Given the description of an element on the screen output the (x, y) to click on. 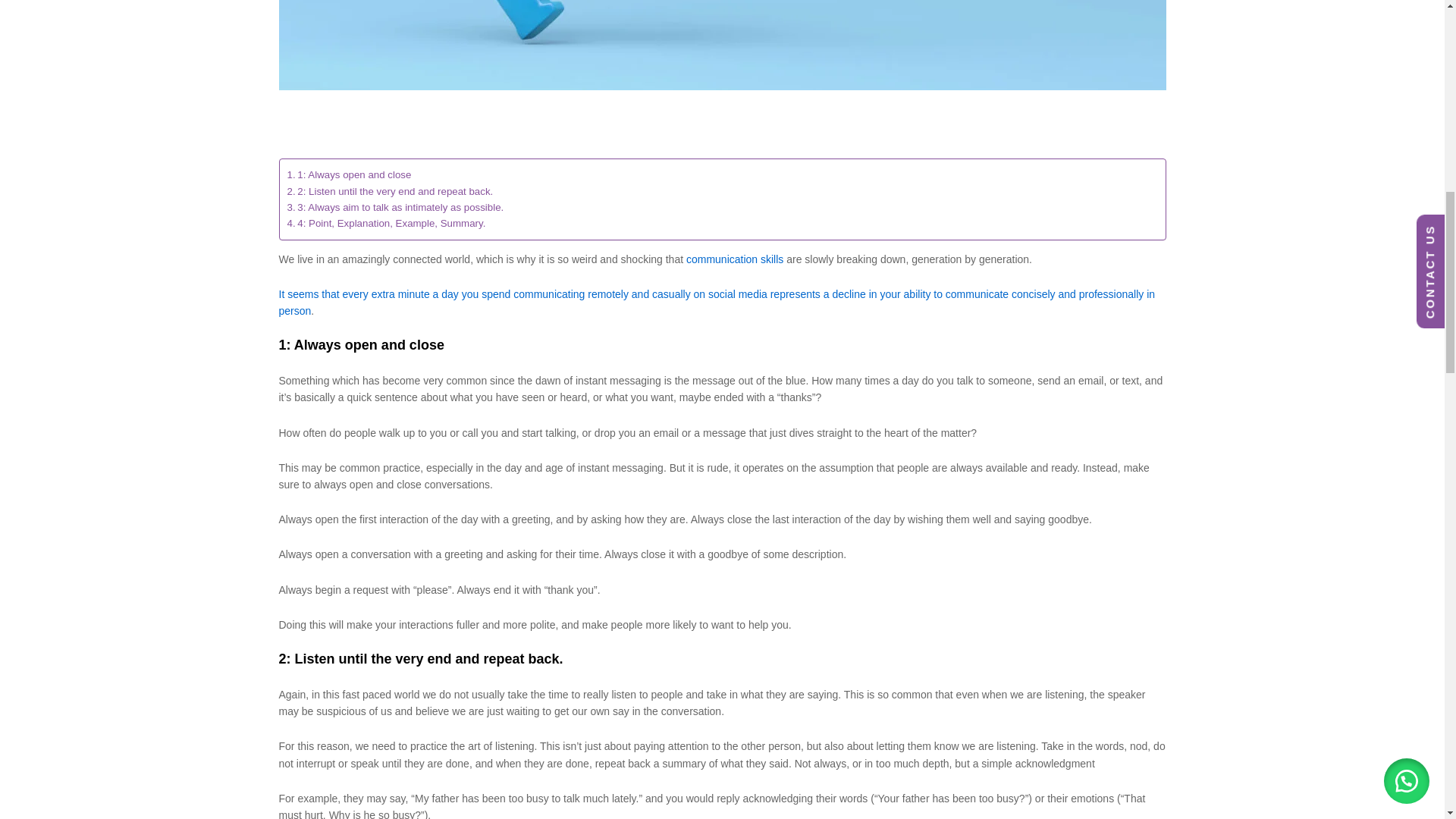
2: Listen until the very end and repeat back. (389, 191)
4: Point, Explanation, Example, Summary. (385, 222)
3: Always aim to talk as intimately as possible. (394, 207)
1: Always open and close (348, 174)
